Given the description of an element on the screen output the (x, y) to click on. 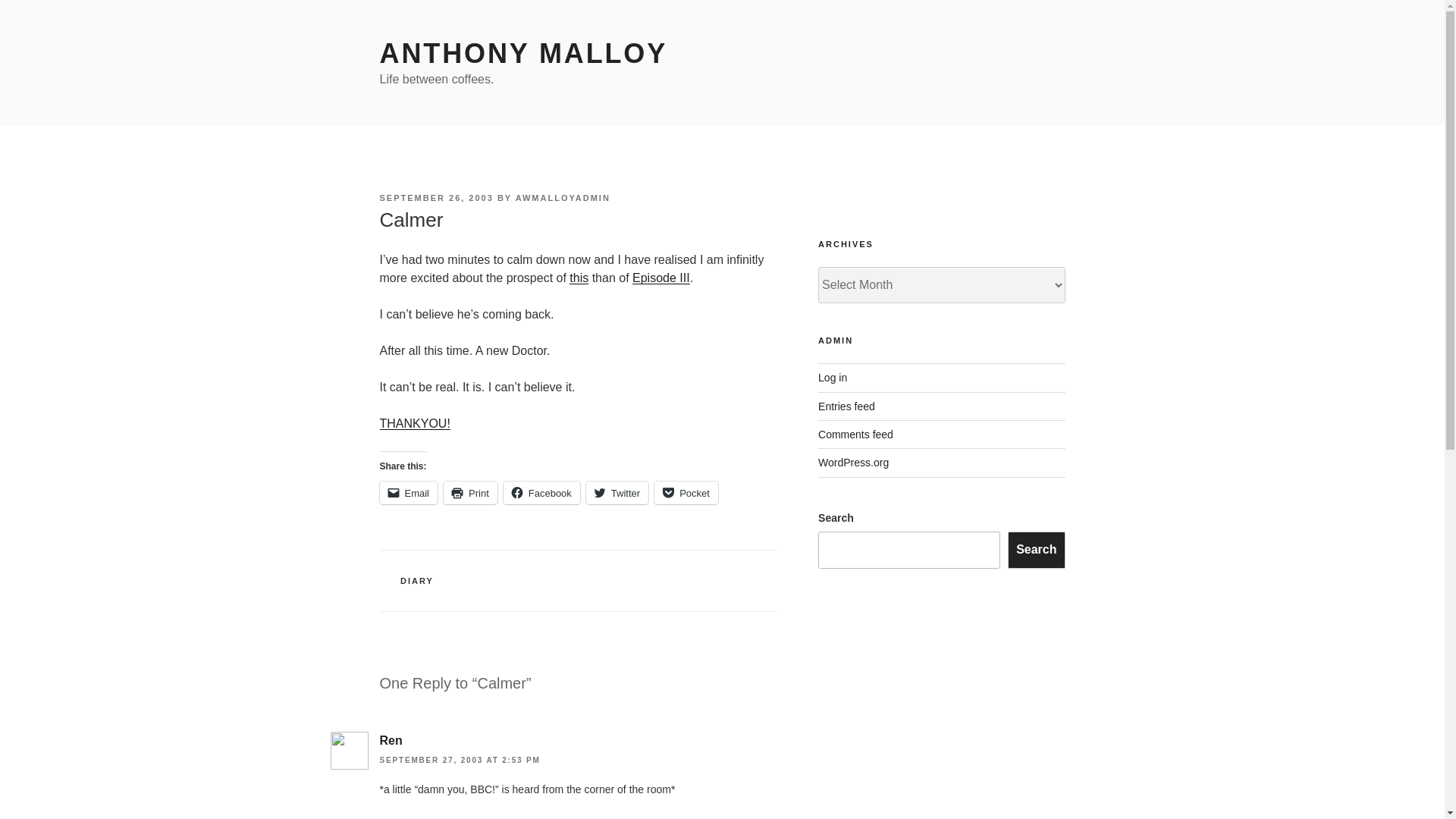
Episode III (660, 277)
Log in (832, 377)
SEPTEMBER 27, 2003 AT 2:53 PM (459, 759)
Pocket (685, 492)
Click to share on Twitter (616, 492)
Click to print (470, 492)
Print (470, 492)
Facebook (541, 492)
Click to share on Pocket (685, 492)
this (578, 277)
